Given the description of an element on the screen output the (x, y) to click on. 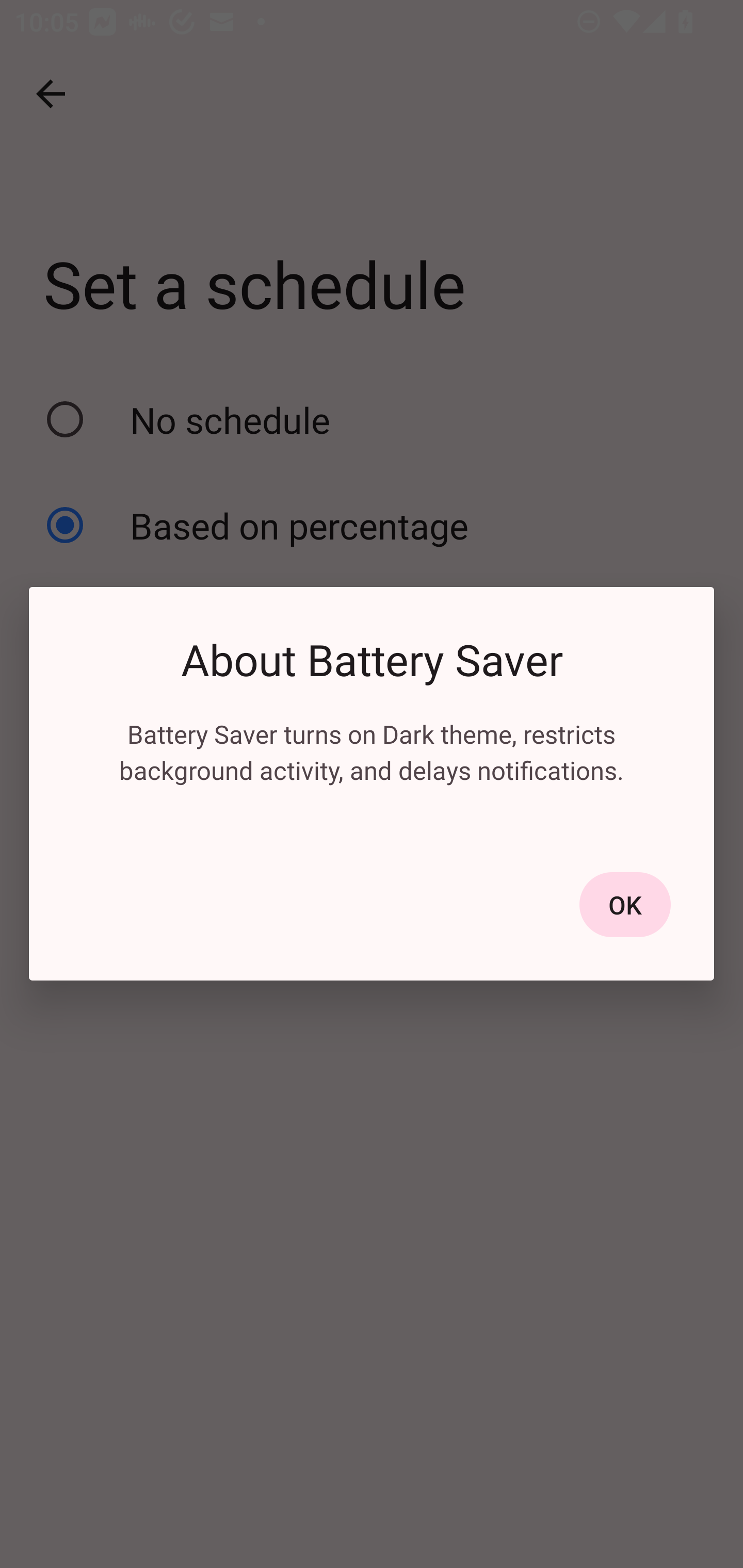
OK (624, 904)
